Given the description of an element on the screen output the (x, y) to click on. 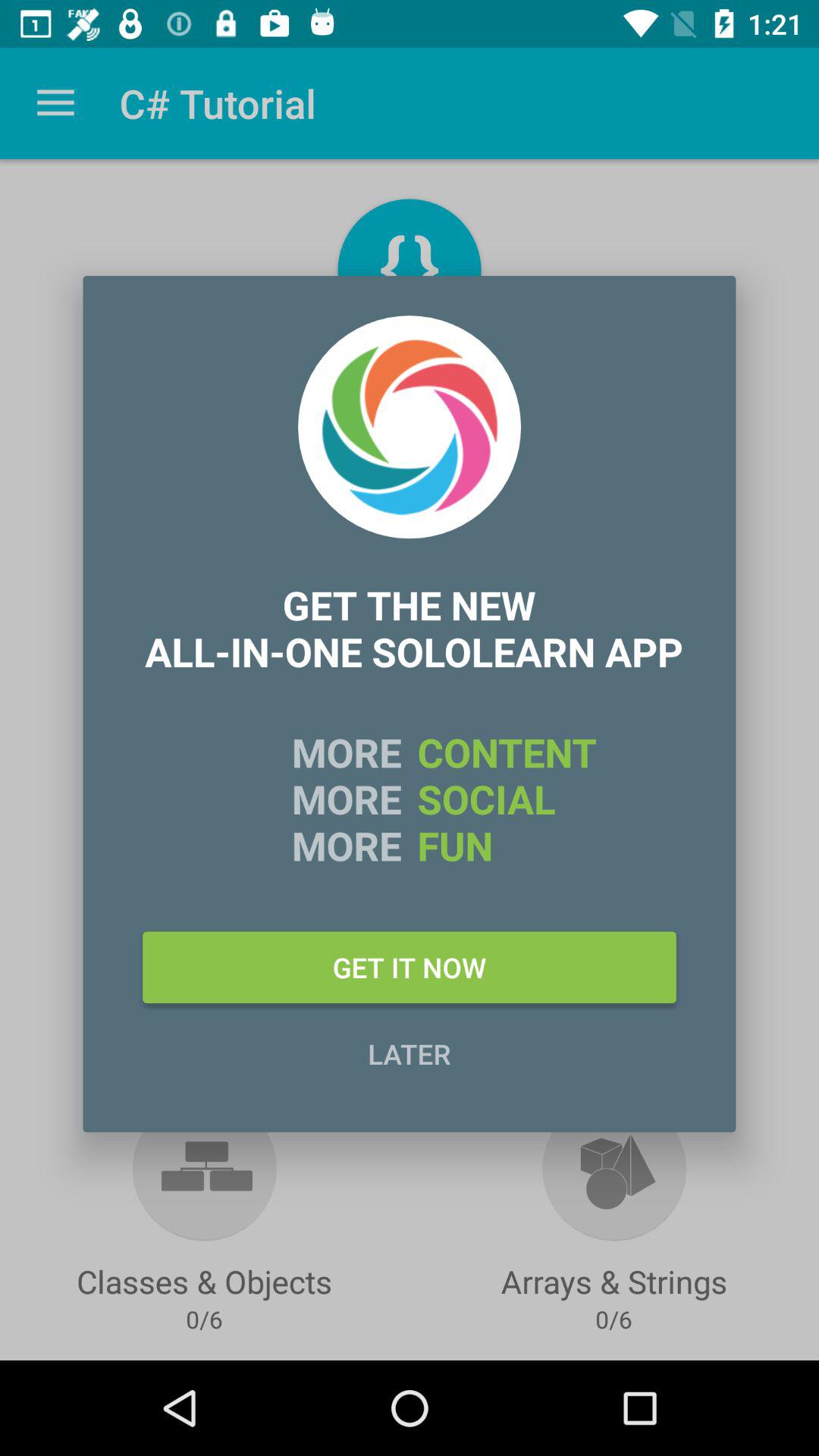
tap the get it now icon (409, 967)
